Given the description of an element on the screen output the (x, y) to click on. 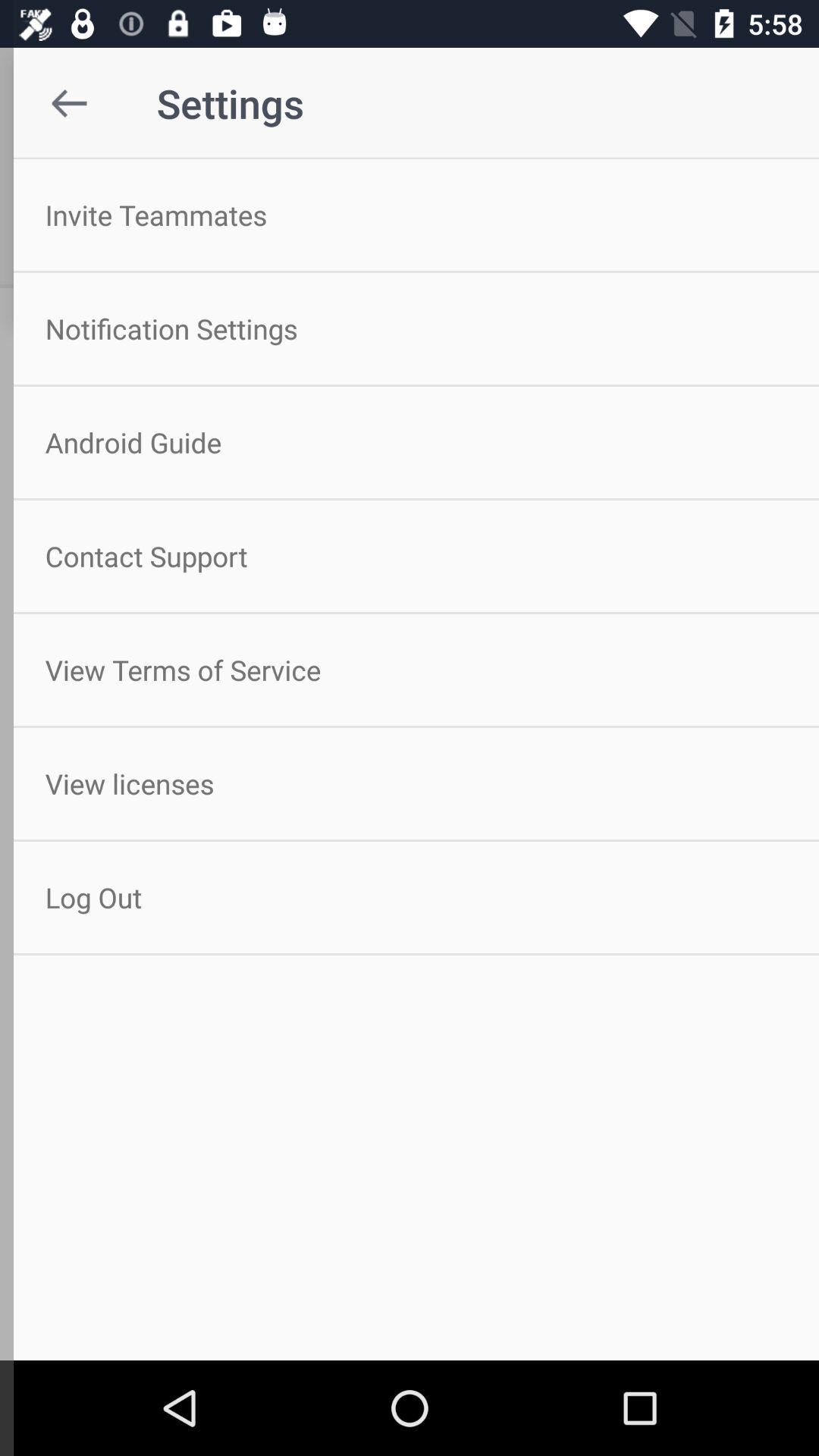
scroll to the view terms of item (409, 669)
